Given the description of an element on the screen output the (x, y) to click on. 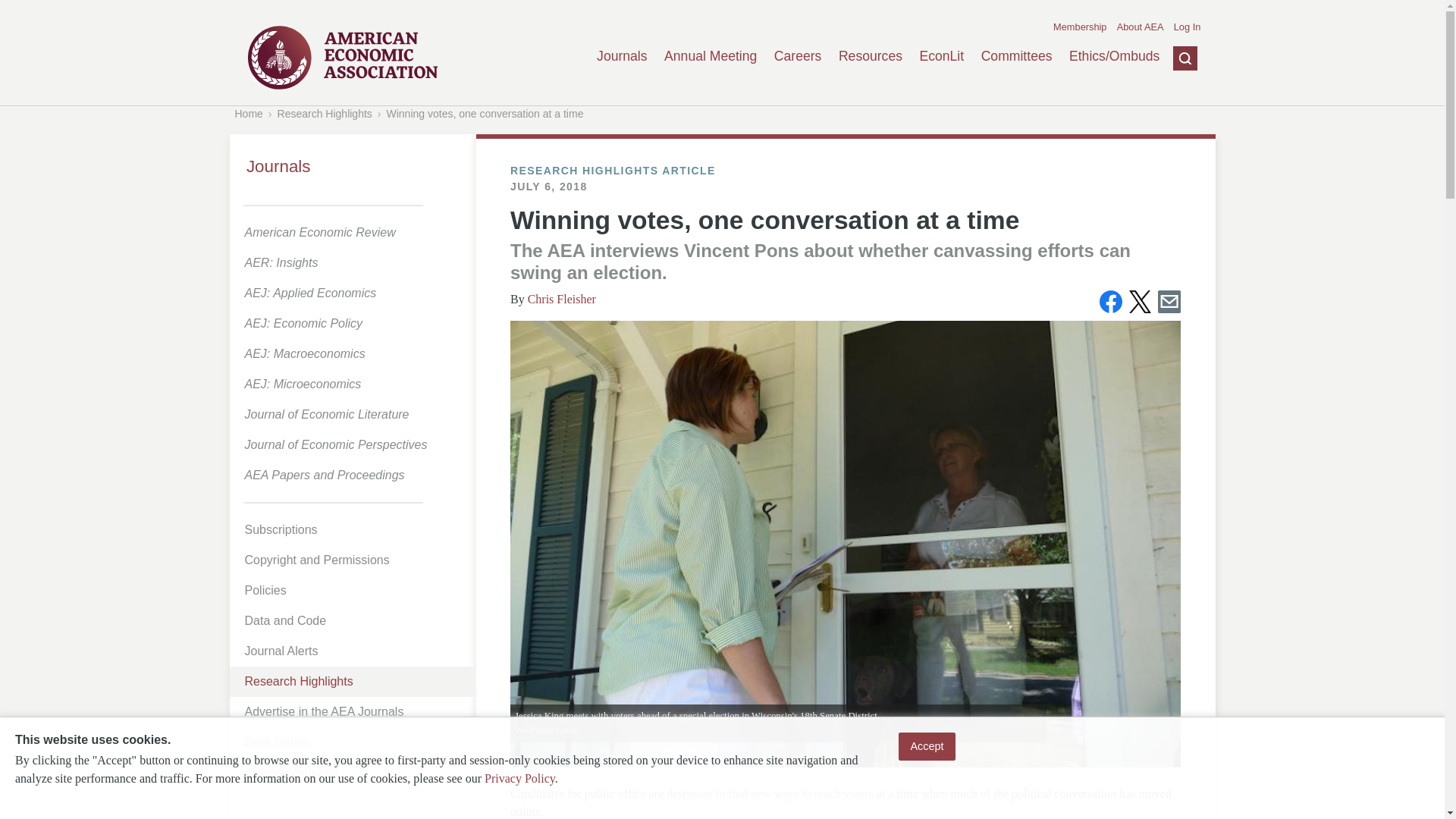
Careers (798, 55)
Winning votes, one conversation at a time (485, 113)
desperate to find new ways to reach voters (767, 793)
Chris Fleisher (561, 298)
EconLit (940, 55)
About AEA (1139, 26)
Journals (621, 55)
Accept (926, 746)
Resources (870, 55)
Committees (1016, 55)
